Given the description of an element on the screen output the (x, y) to click on. 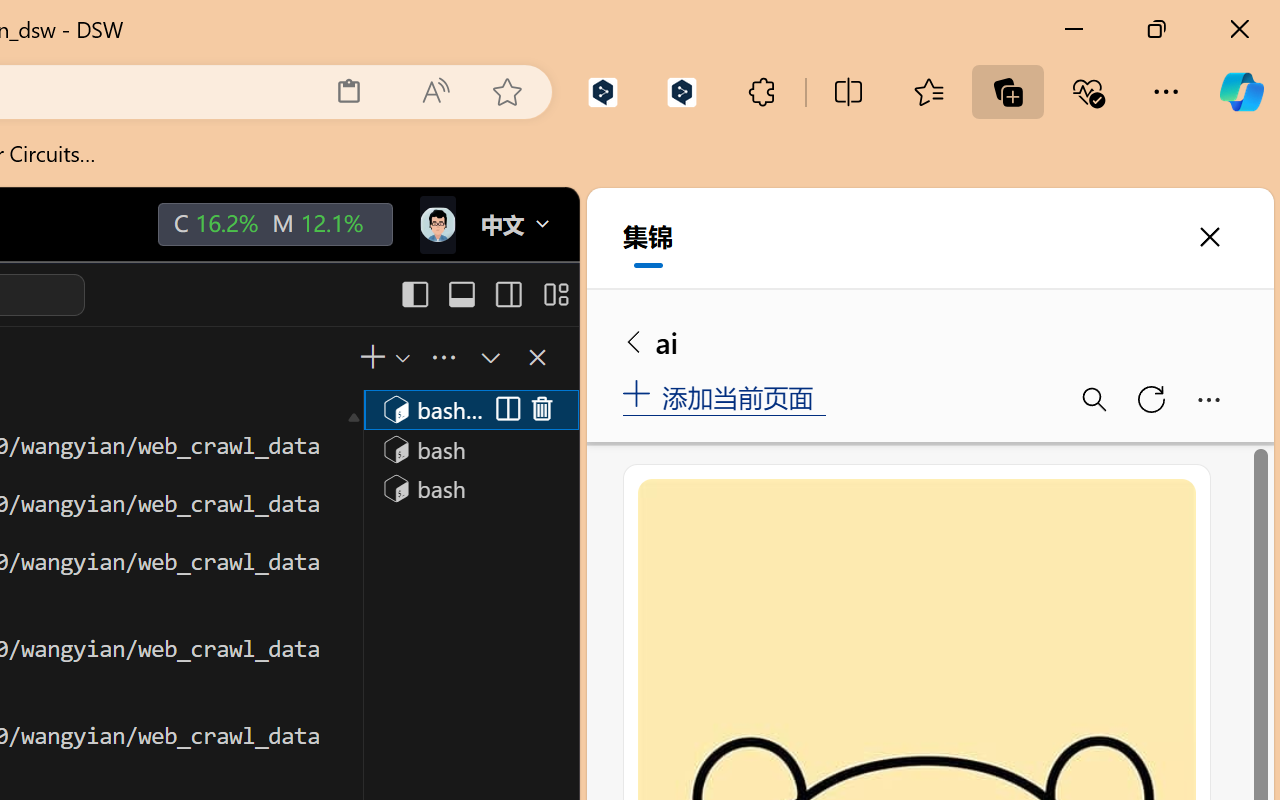
Customize Layout... (553, 294)
Restore Panel Size (488, 357)
Toggle Secondary Side Bar (Ctrl+Alt+B) (506, 294)
